Given the description of an element on the screen output the (x, y) to click on. 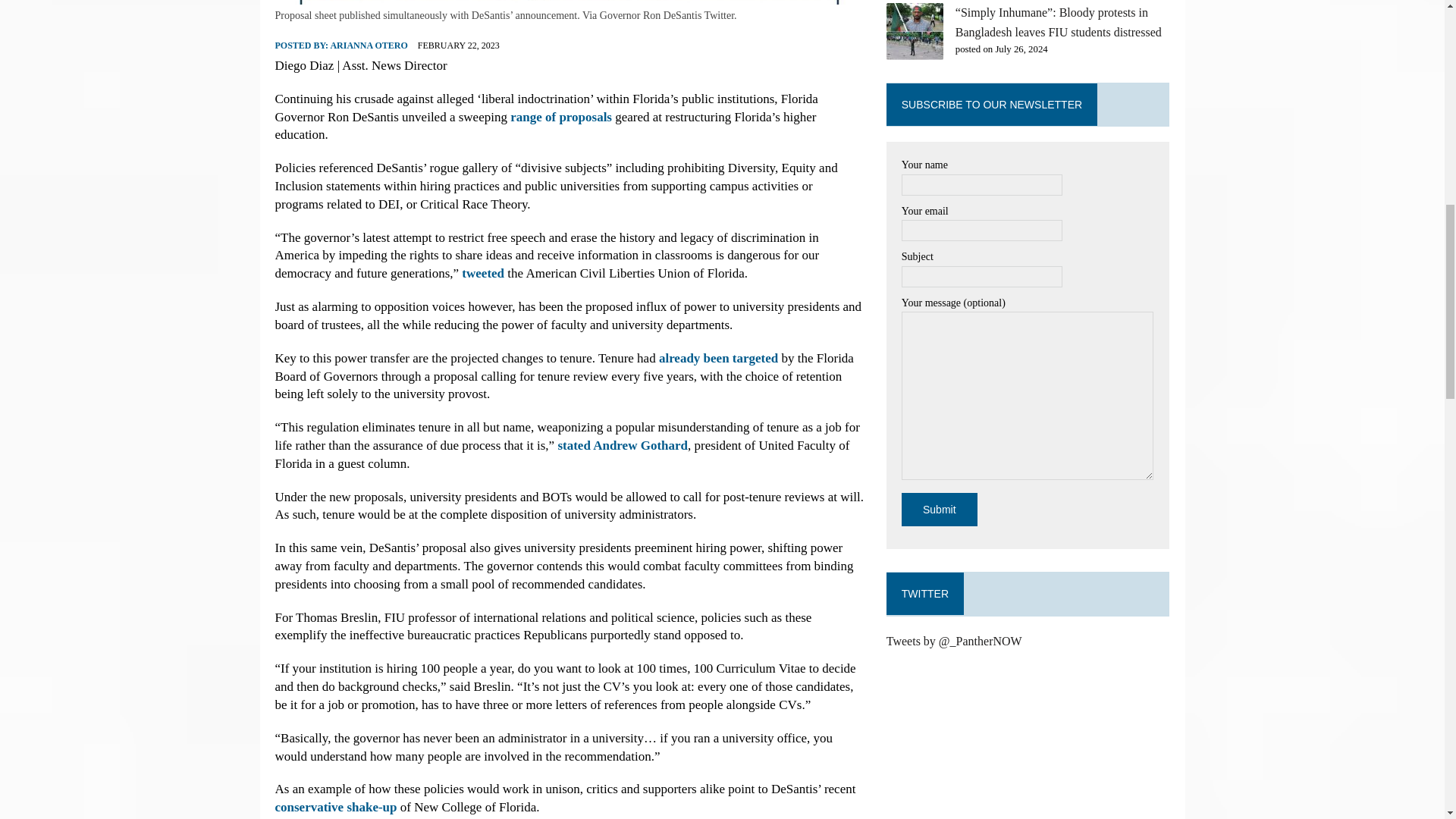
Submit (938, 509)
